Given the description of an element on the screen output the (x, y) to click on. 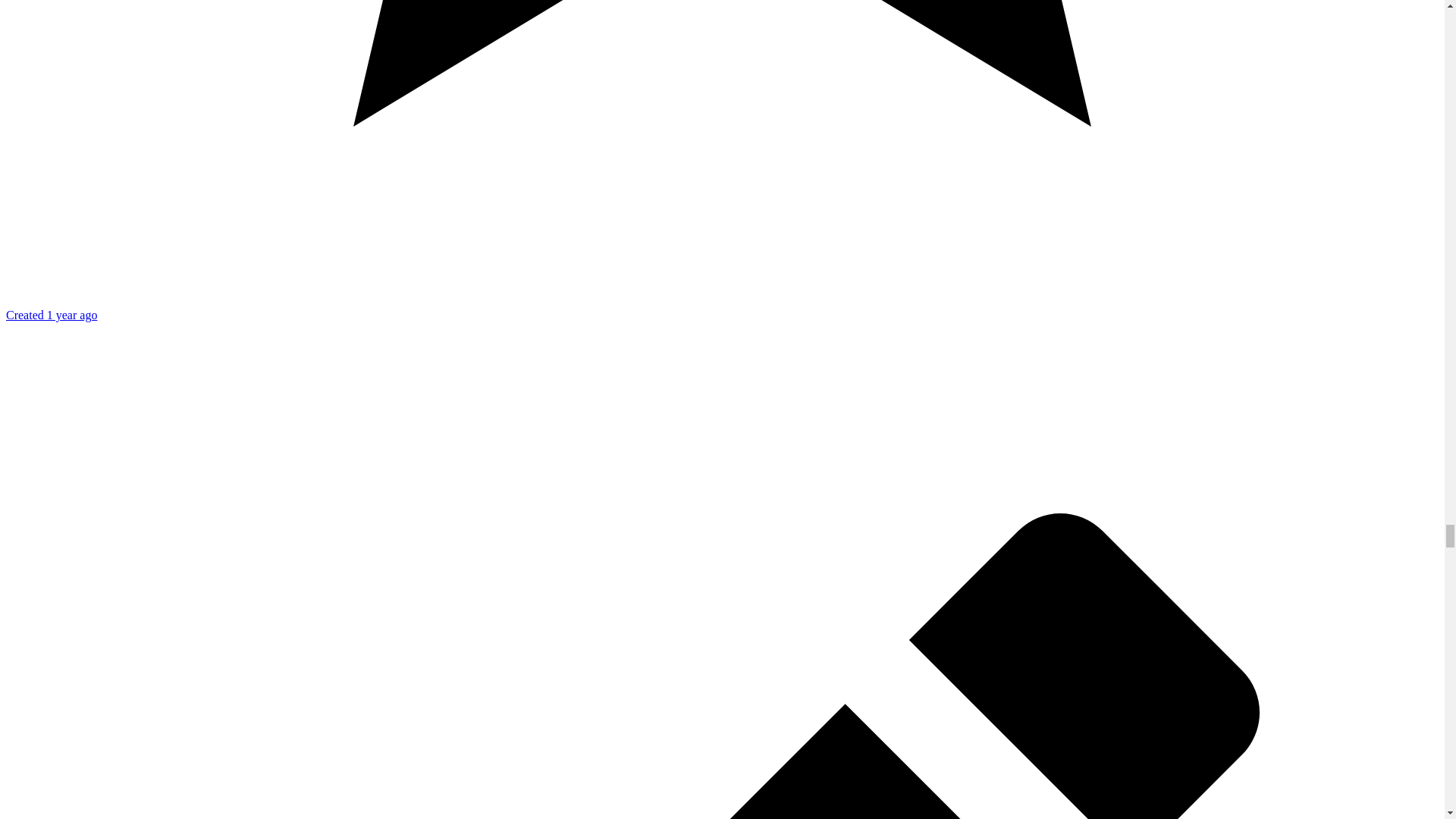
Tue, Oct 25, 2022 2:16 PM (51, 314)
